Given the description of an element on the screen output the (x, y) to click on. 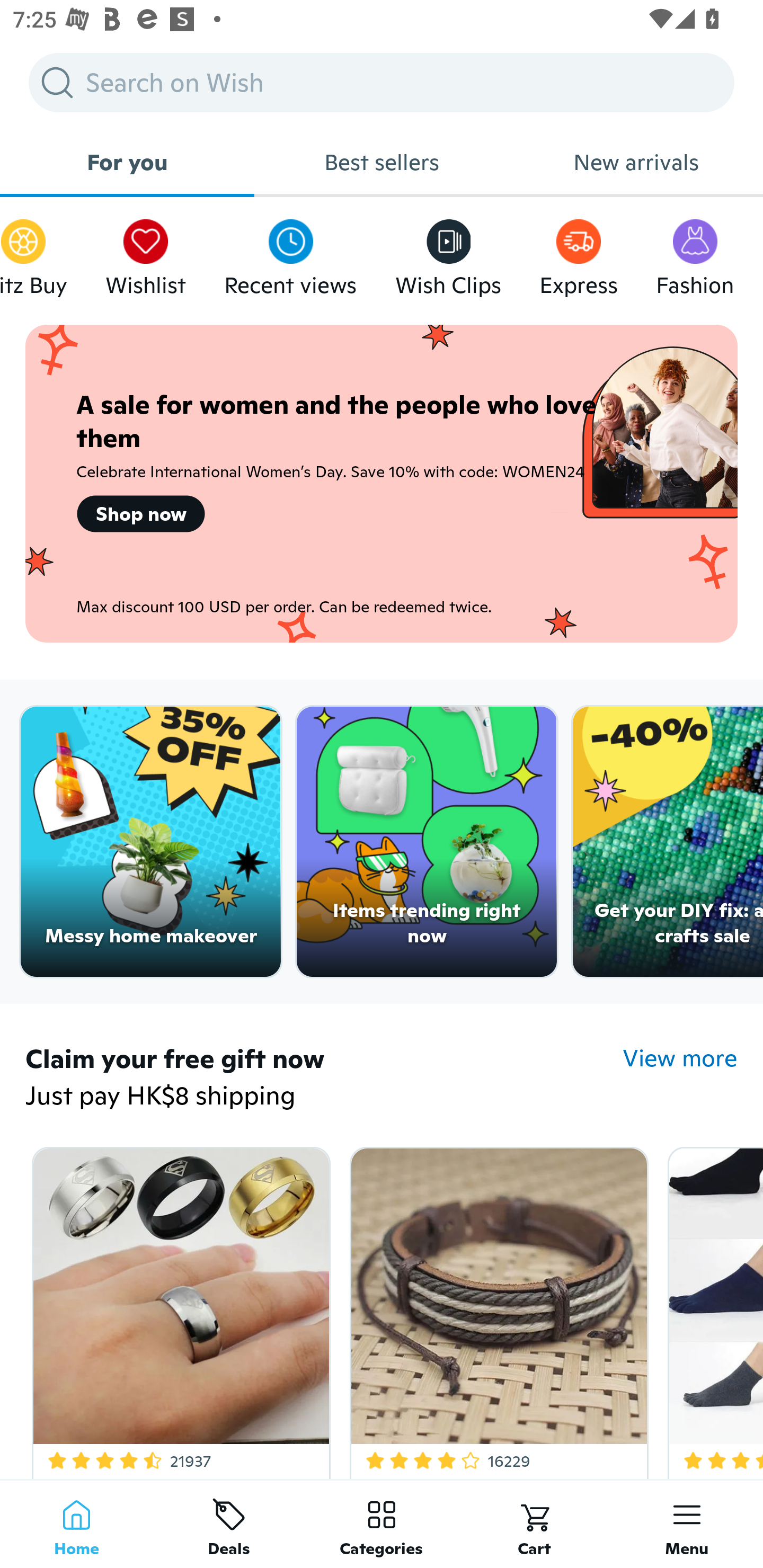
Search on Wish (381, 82)
For you (127, 161)
Best sellers (381, 161)
New arrivals (635, 161)
Blitz Buy (33, 252)
Wishlist (145, 252)
Recent views (290, 252)
Wish Clips (448, 252)
Express (578, 252)
Fashion (695, 252)
Messy home makeover (150, 841)
Items trending right now (426, 841)
Get your DIY fix: arts & crafts sale (668, 841)
Claim your free gift now
Just pay HK$8 shipping (323, 1078)
View more (679, 1058)
4.3 Star Rating 21937 Free (177, 1308)
3.8 Star Rating 16229 Free (495, 1308)
Home (76, 1523)
Deals (228, 1523)
Categories (381, 1523)
Cart (533, 1523)
Menu (686, 1523)
